Given the description of an element on the screen output the (x, y) to click on. 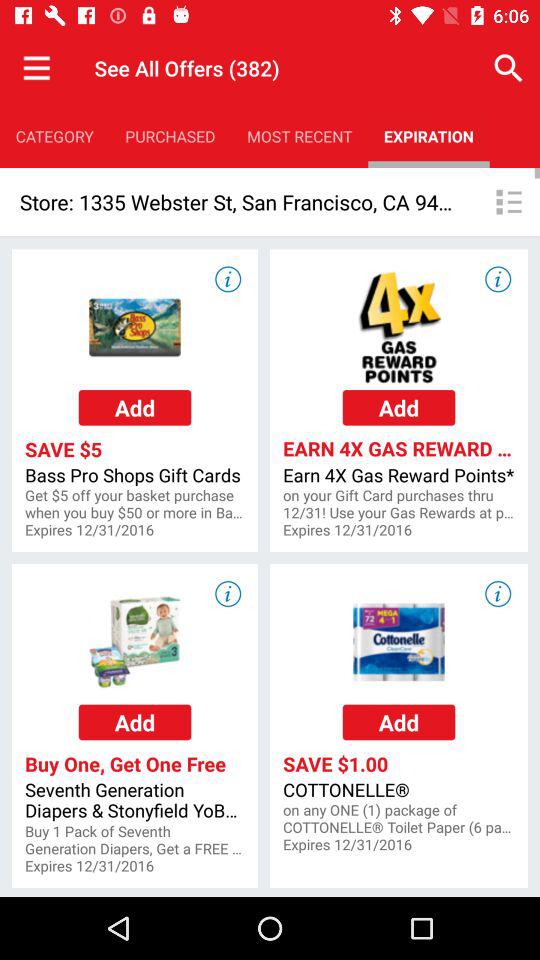
select the first information icon from top (227, 278)
